Given the description of an element on the screen output the (x, y) to click on. 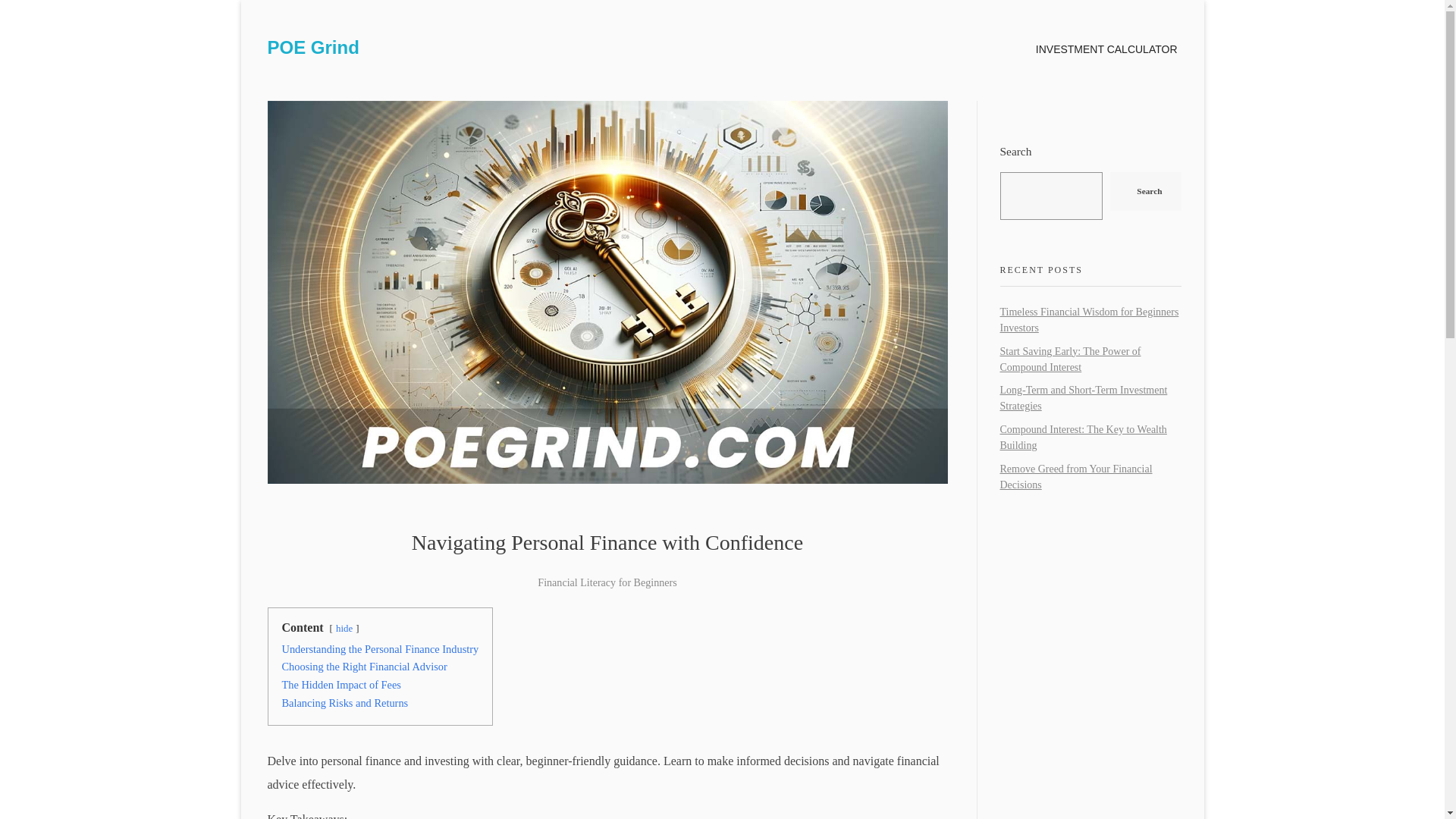
hide (344, 628)
Search (1144, 190)
The Hidden Impact of Fees (341, 684)
POE Grind (312, 46)
Compound Interest: The Key to Wealth Building (1082, 437)
Choosing the Right Financial Advisor (364, 666)
POE Grind (312, 46)
Understanding the Personal Finance Industry (380, 648)
Financial Literacy for Beginners (607, 582)
INVESTMENT CALCULATOR (1106, 48)
